Given the description of an element on the screen output the (x, y) to click on. 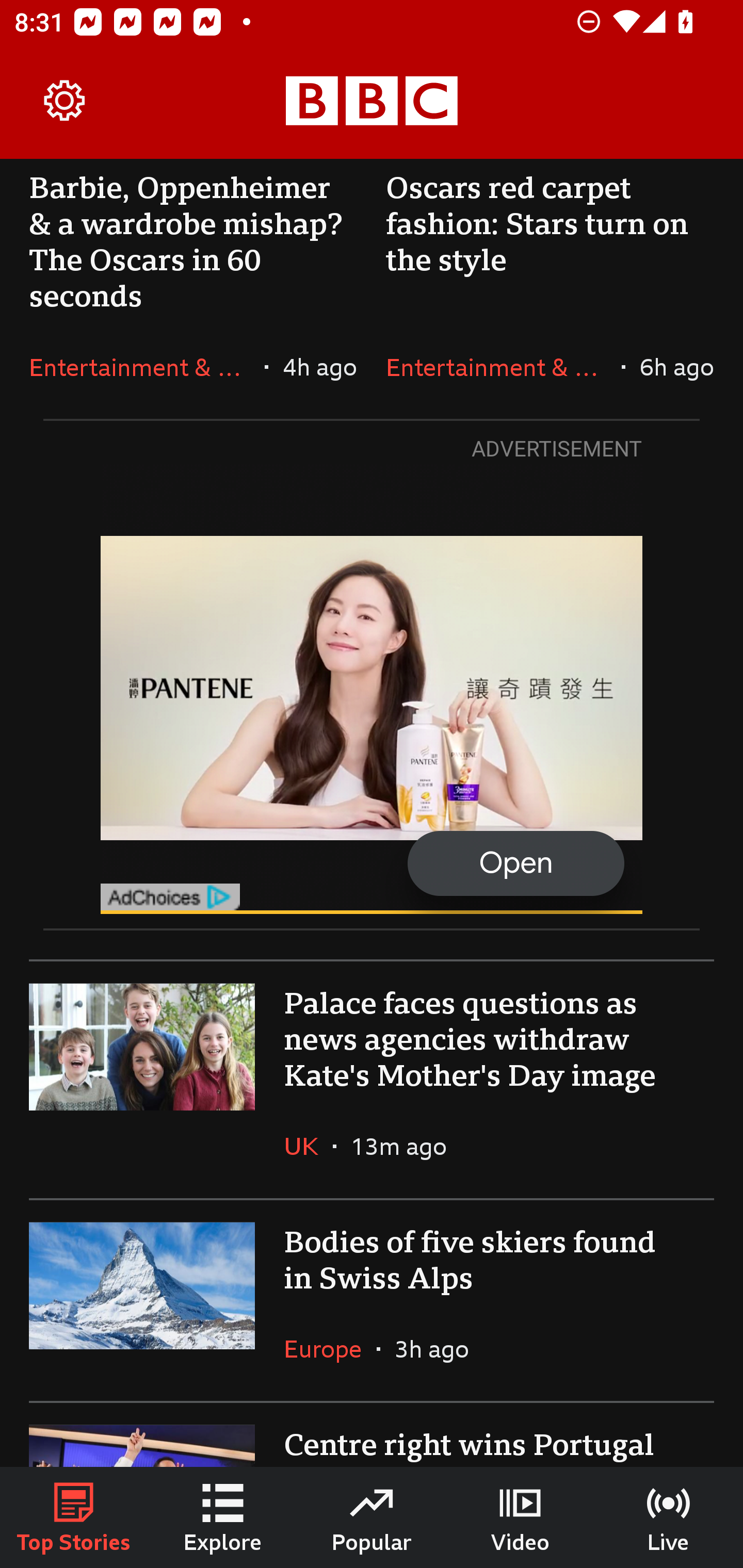
Settings (64, 100)
Open get?name=admarker-full-tl (371, 688)
get?name=admarker-full-tl (170, 896)
UK In the section UK (307, 1145)
Europe In the section Europe (329, 1348)
Explore (222, 1517)
Popular (371, 1517)
Video (519, 1517)
Live (668, 1517)
